Given the description of an element on the screen output the (x, y) to click on. 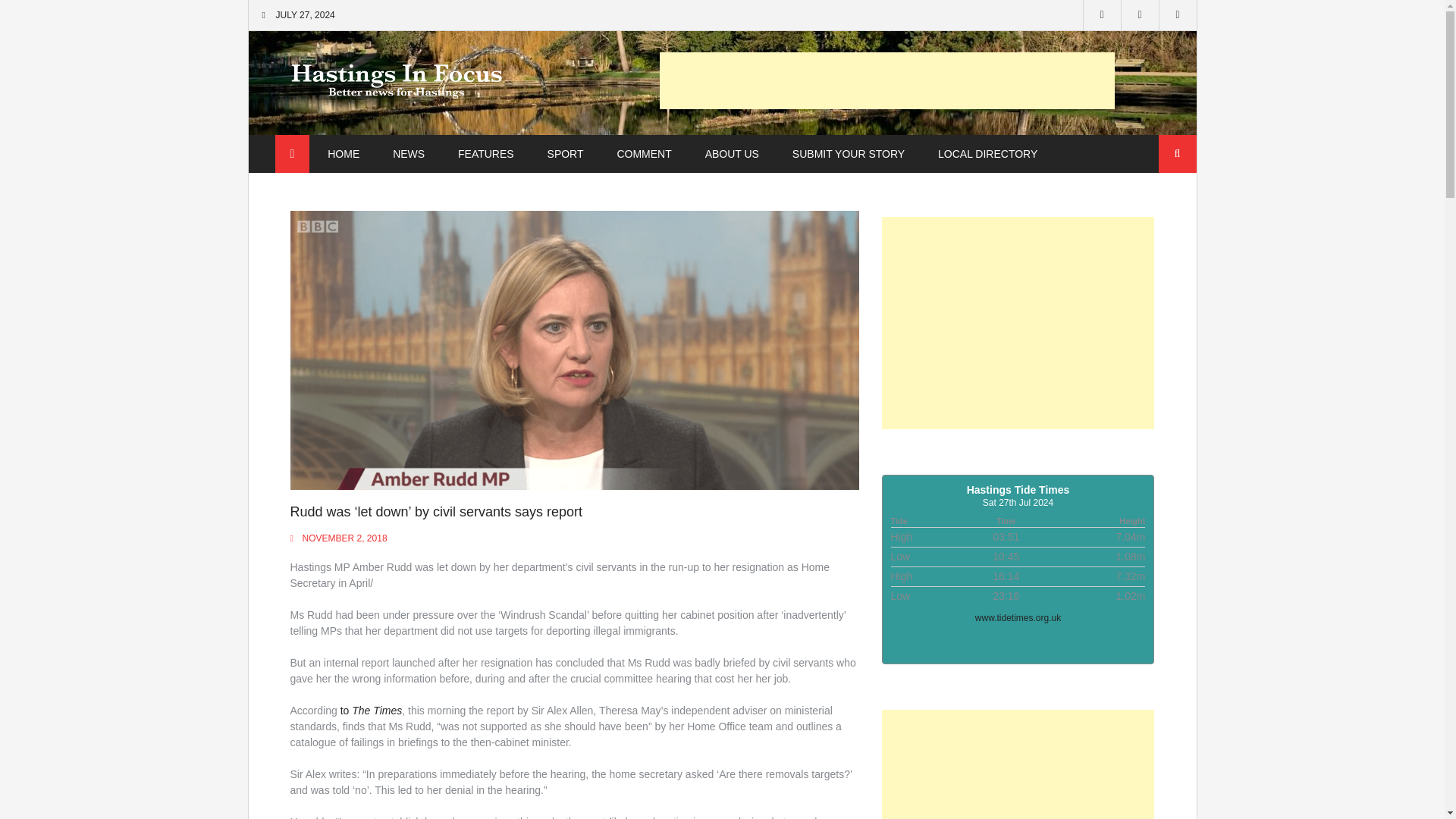
SUBMIT YOUR STORY (848, 153)
Search (1177, 153)
TWITTER (1139, 15)
Advertisement (887, 80)
FEATURES (485, 153)
www.tidetimes.org.uk (1018, 617)
Advertisement (1018, 764)
Search (1177, 153)
Advertisement (1018, 323)
ABOUT US (732, 153)
Search (1177, 153)
SPORT (565, 153)
LOCAL DIRECTORY (987, 153)
to The Times (371, 710)
INSTAGRAM (1177, 15)
